Given the description of an element on the screen output the (x, y) to click on. 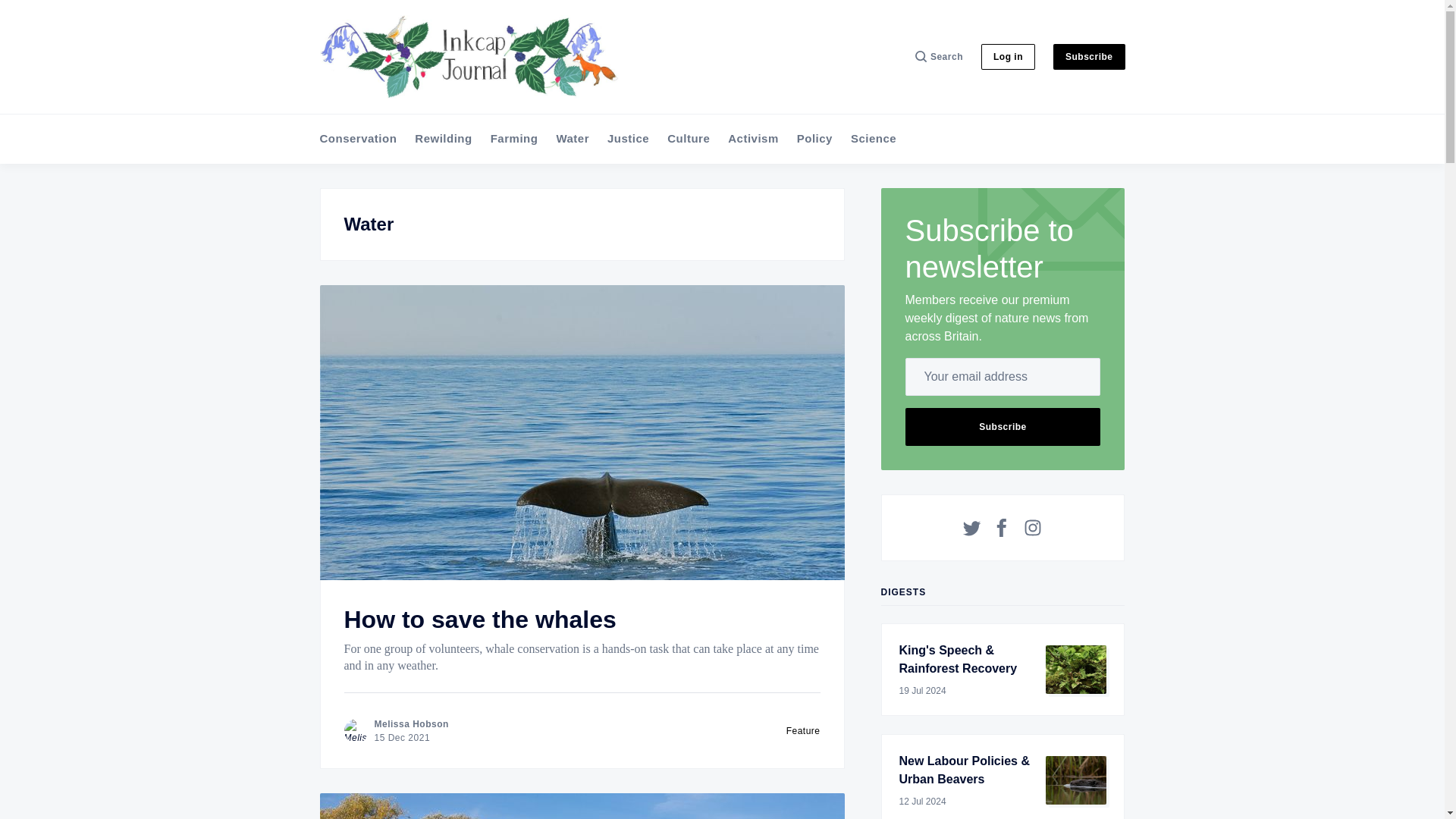
Log in (1008, 56)
Melissa Hobson (411, 724)
Activism (753, 138)
Farming (514, 138)
Search (938, 56)
Science (873, 138)
Subscribe (1088, 56)
Rewilding (442, 138)
Feature (803, 730)
How to save the whales (479, 619)
Conservation (358, 138)
